Given the description of an element on the screen output the (x, y) to click on. 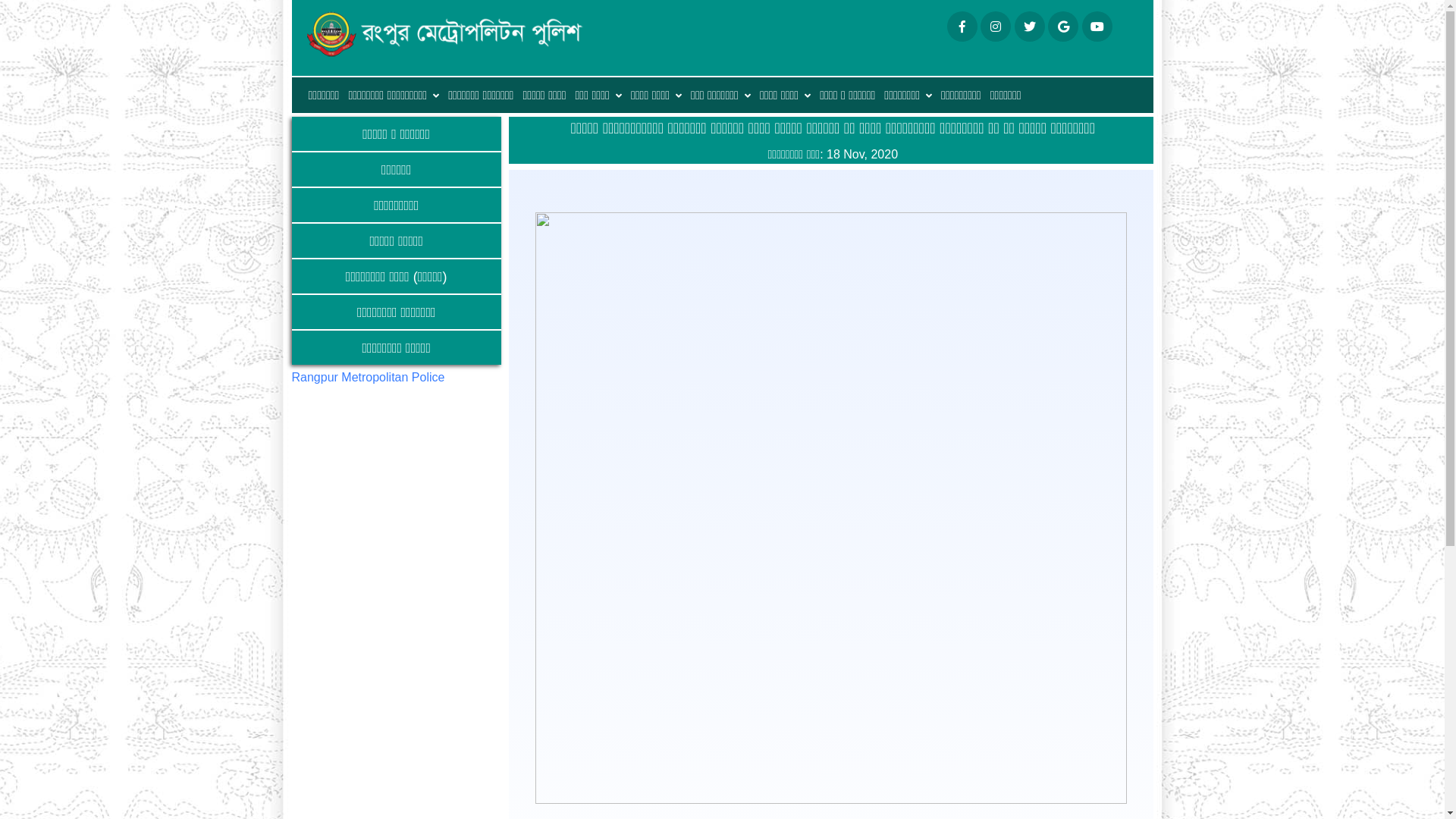
Rangpur Metropolitan Police Element type: text (367, 376)
